Given the description of an element on the screen output the (x, y) to click on. 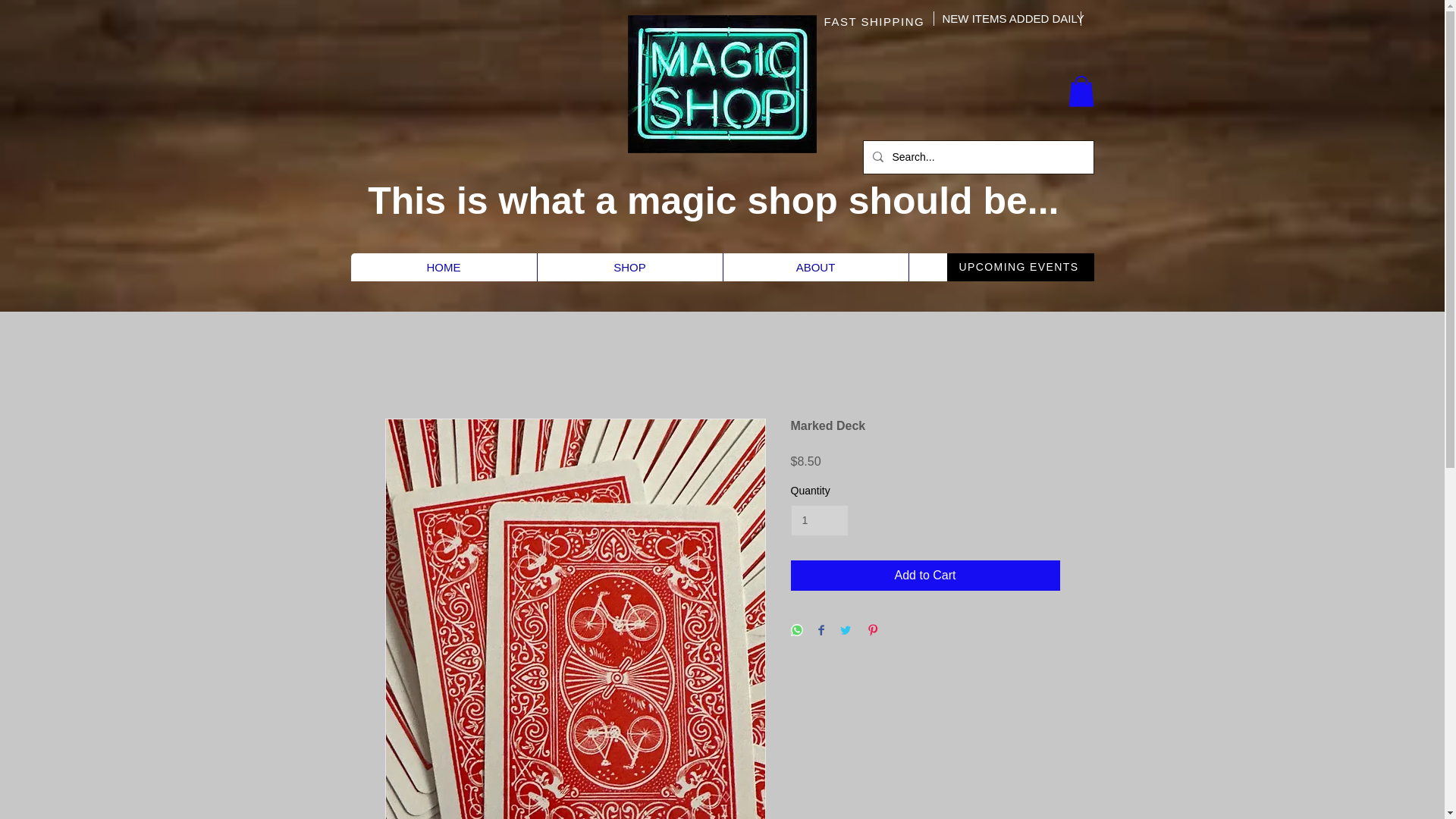
1 (818, 520)
Add to Cart (924, 575)
HOME (442, 267)
SHOP (629, 267)
UPCOMING EVENTS (1019, 267)
ABOUT (814, 267)
